Given the description of an element on the screen output the (x, y) to click on. 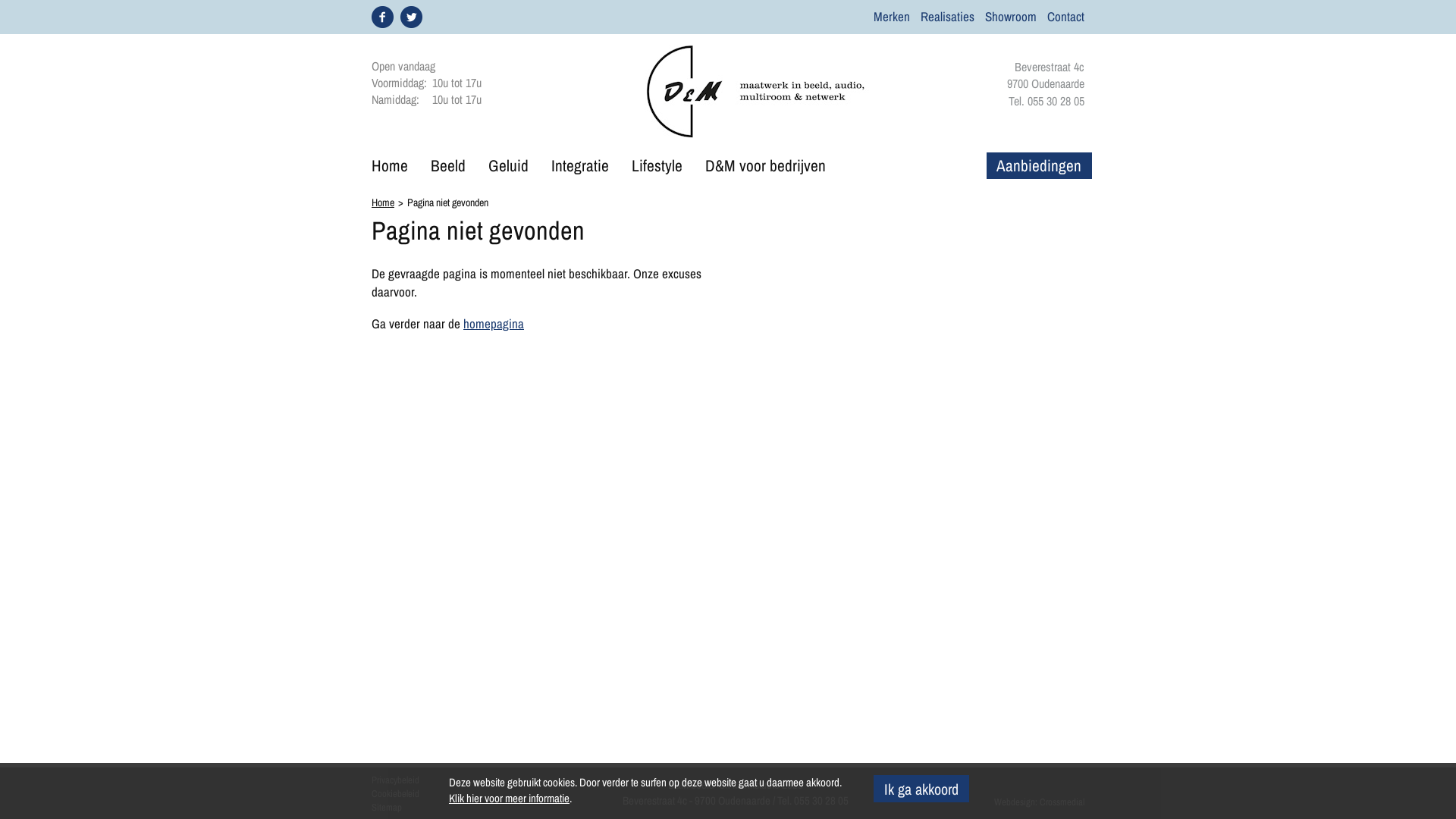
Integratie Element type: text (579, 165)
Realisaties Element type: text (947, 16)
Beeld Element type: text (447, 165)
Merken Element type: text (891, 16)
D&M voor bedrijven Element type: text (765, 165)
Privacybeleid Element type: text (395, 779)
Showroom Element type: text (1010, 16)
Geluid Element type: text (508, 165)
Aanbiedingen Element type: text (1039, 165)
Sitemap Element type: text (386, 806)
Home Element type: text (389, 165)
Klik hier voor meer informatie Element type: text (508, 798)
Contact Element type: text (1065, 16)
Cookiebeleid Element type: text (395, 793)
Lifestyle Element type: text (656, 165)
Home Element type: text (382, 202)
homepagina Element type: text (493, 323)
Webdesign: Crossmedial Element type: text (1039, 801)
Ik ga akkoord Element type: text (921, 788)
